Given the description of an element on the screen output the (x, y) to click on. 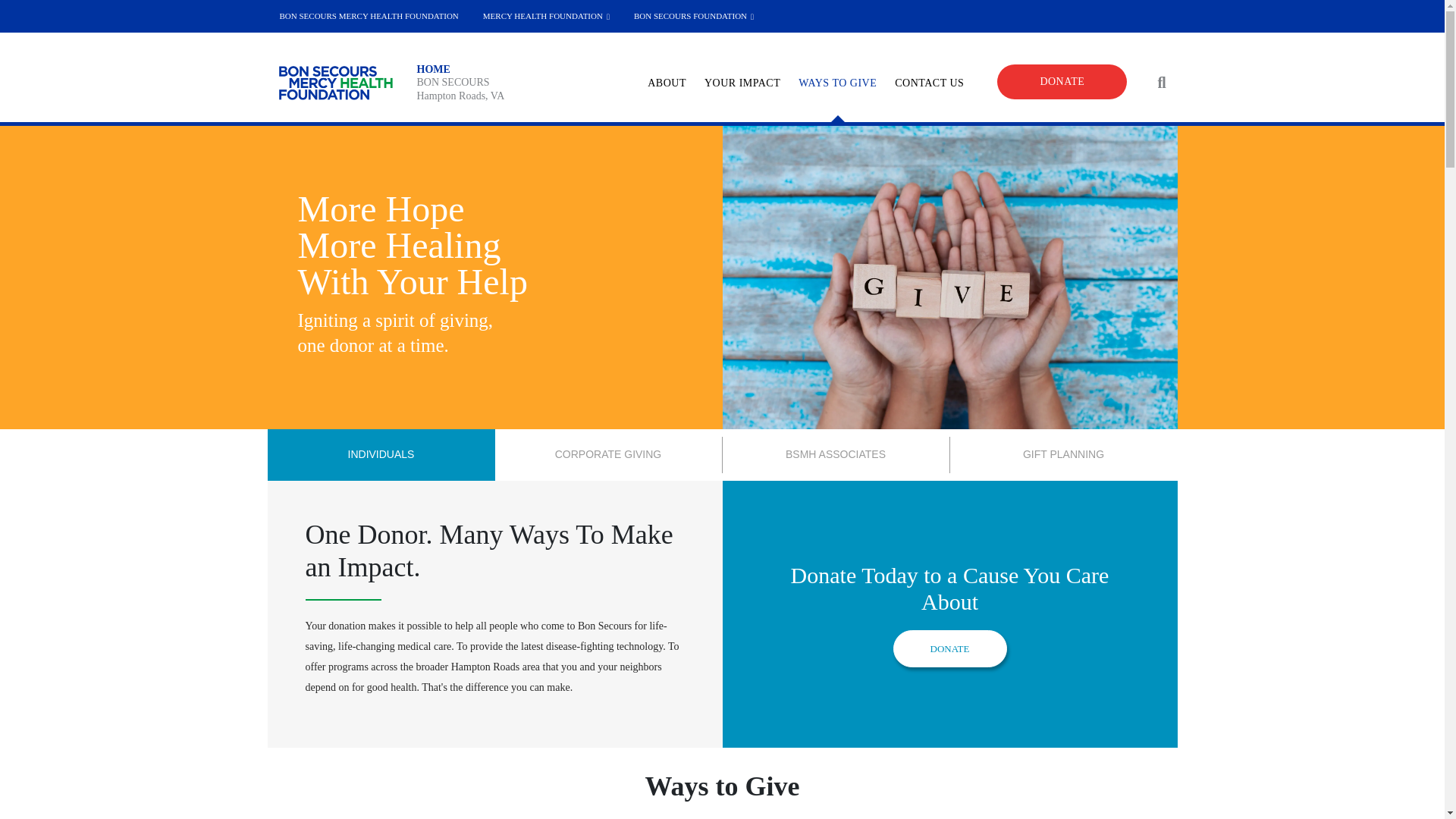
BON SECOURS MERCY HEALTH FOUNDATION (368, 16)
BON SECOURS FOUNDATION (693, 16)
MERCY HEALTH FOUNDATION (546, 16)
